Given the description of an element on the screen output the (x, y) to click on. 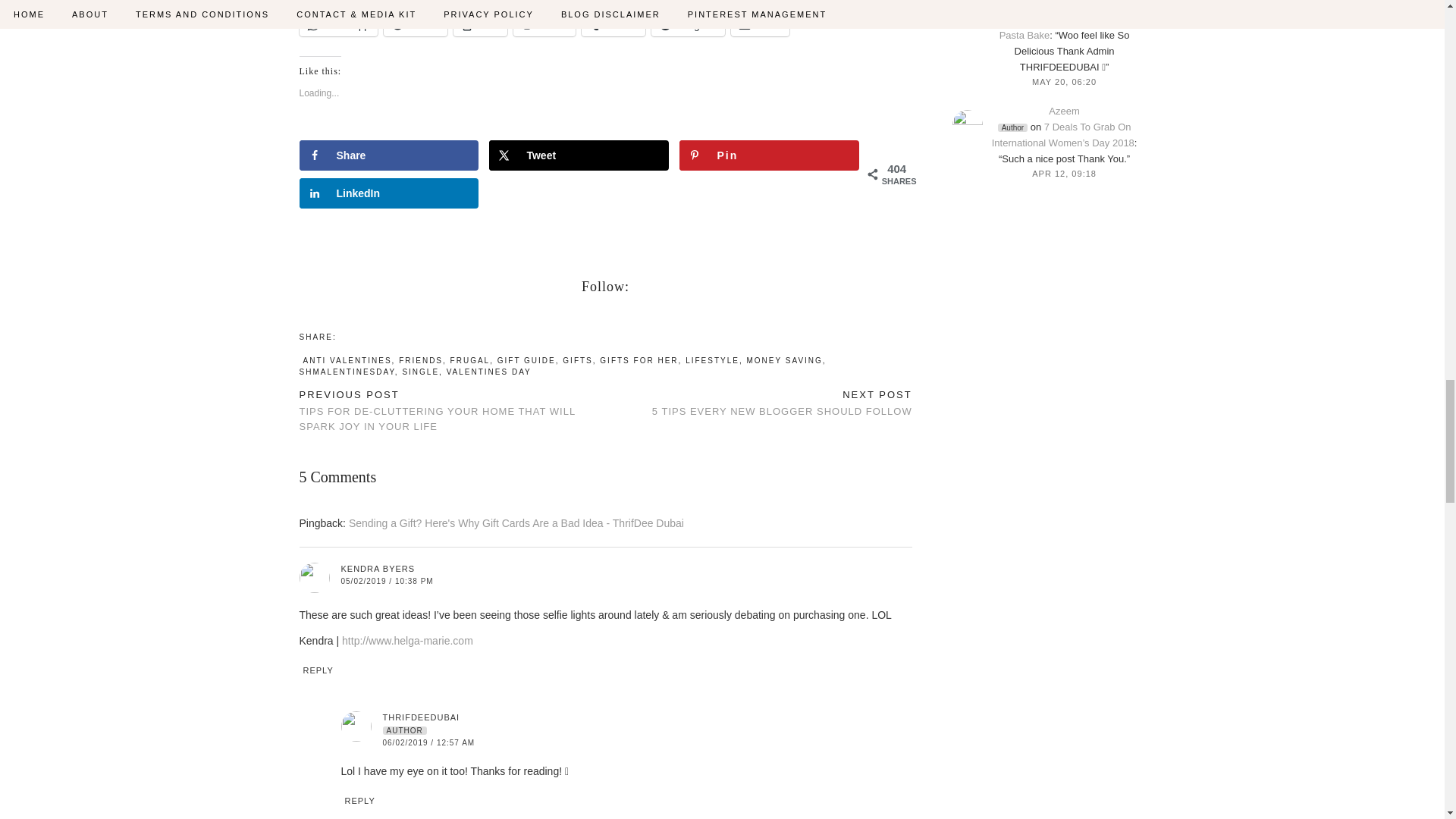
Click to print (479, 24)
WhatsApp (337, 24)
Pocket (415, 24)
Reddit (544, 24)
Print (479, 24)
Click to share on Telegram (687, 24)
Email (759, 24)
Click to share on Tumblr (612, 24)
Click to email a link to a friend (759, 24)
Share (387, 155)
